Given the description of an element on the screen output the (x, y) to click on. 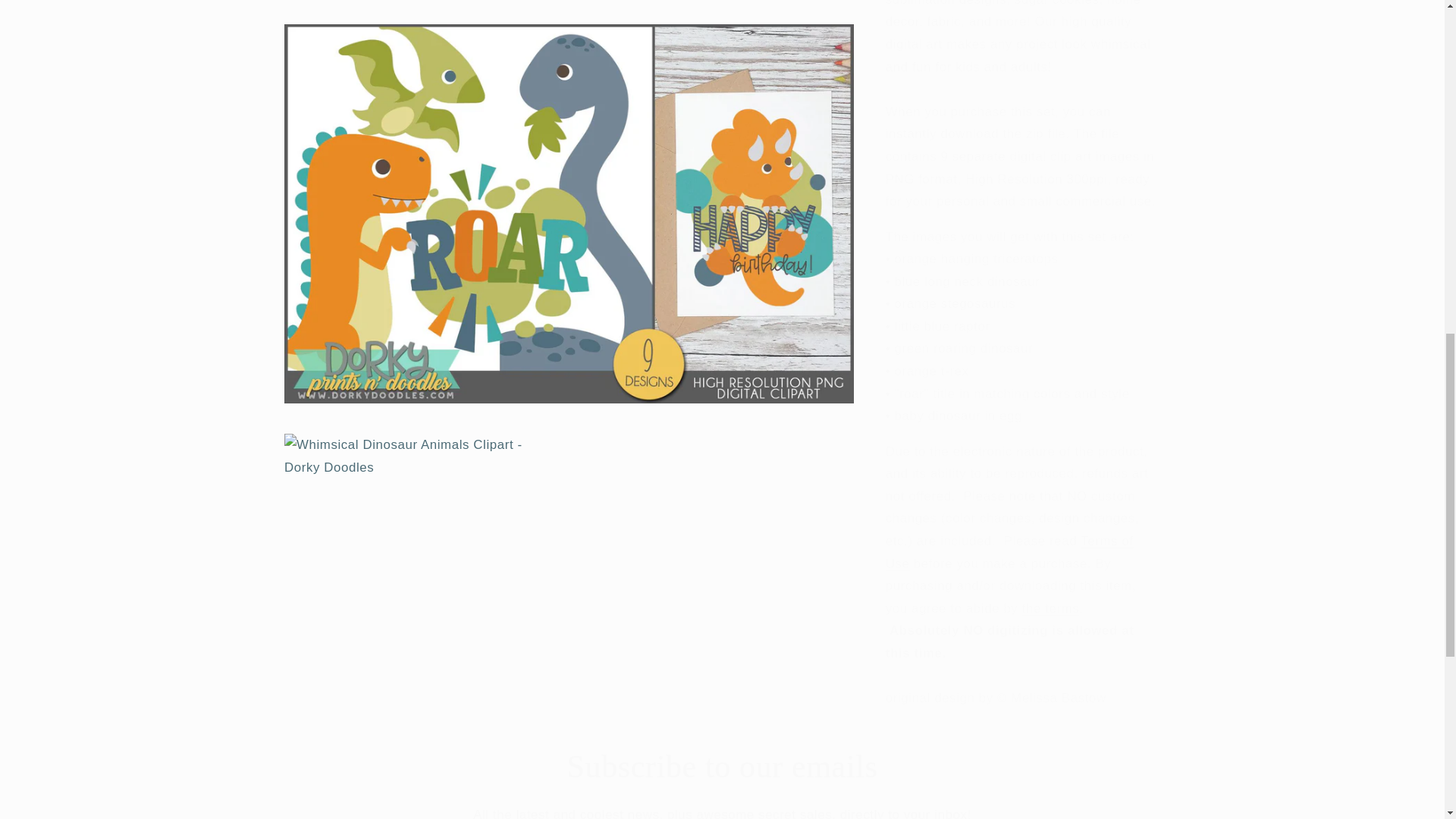
Subscribe to our emails (722, 766)
terms of use (1051, 588)
terms of use (1009, 532)
